Given the description of an element on the screen output the (x, y) to click on. 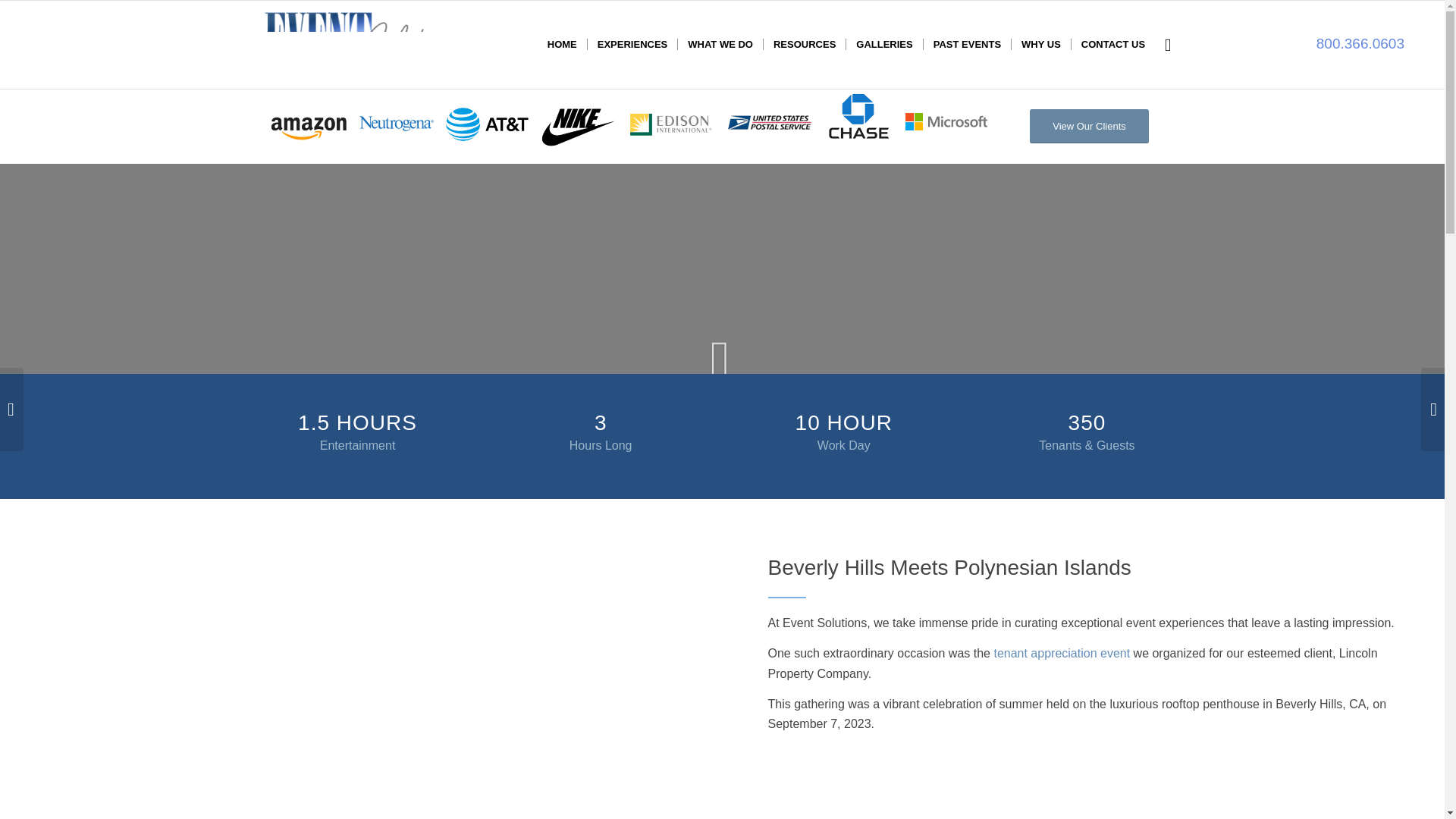
EXPERIENCES (631, 44)
Experiences (631, 44)
What We Do (719, 44)
RESOURCES (803, 44)
800.366.0603 (1360, 44)
WHAT WE DO (719, 44)
